Given the description of an element on the screen output the (x, y) to click on. 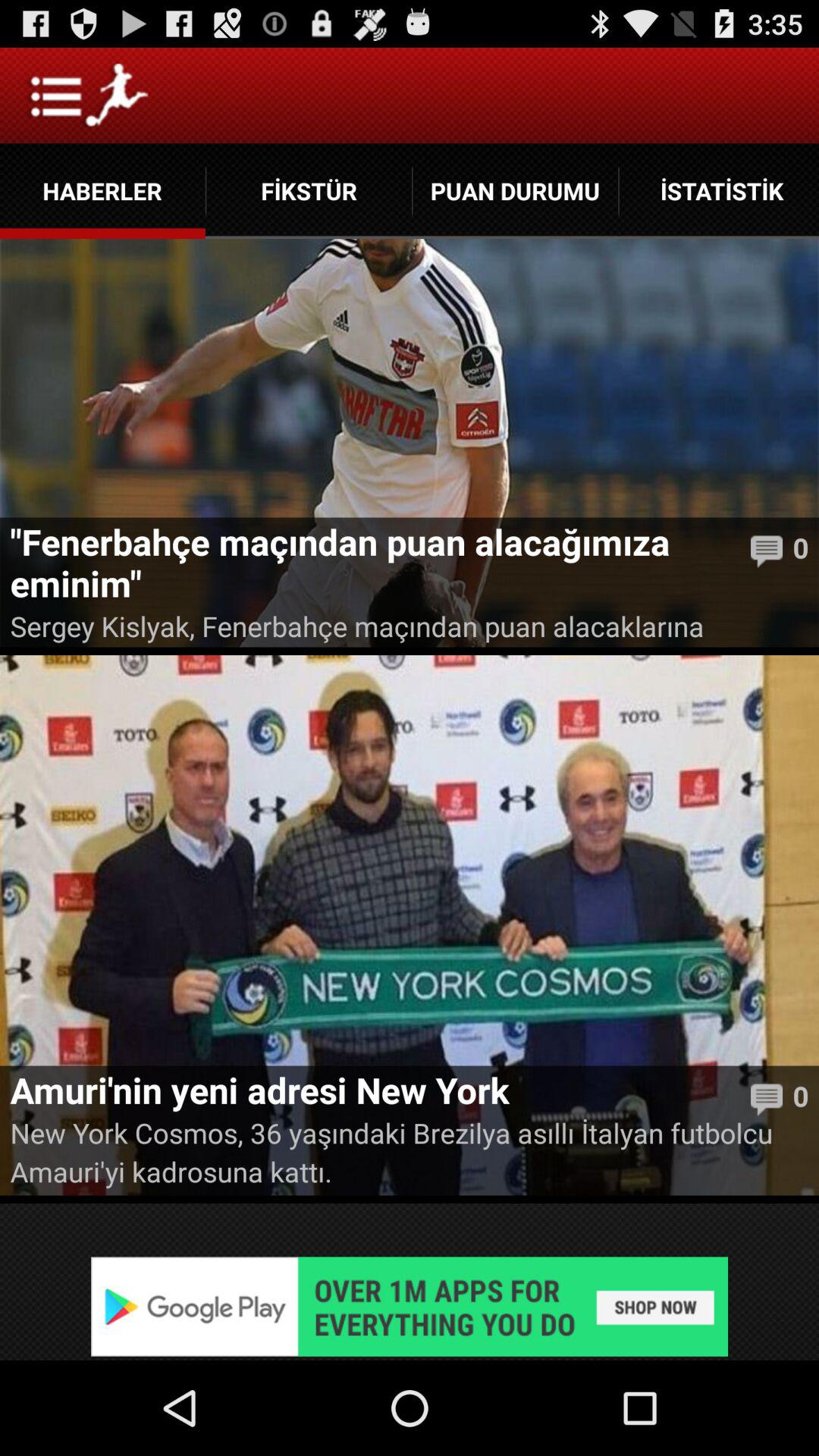
scroll until haberler item (102, 190)
